Given the description of an element on the screen output the (x, y) to click on. 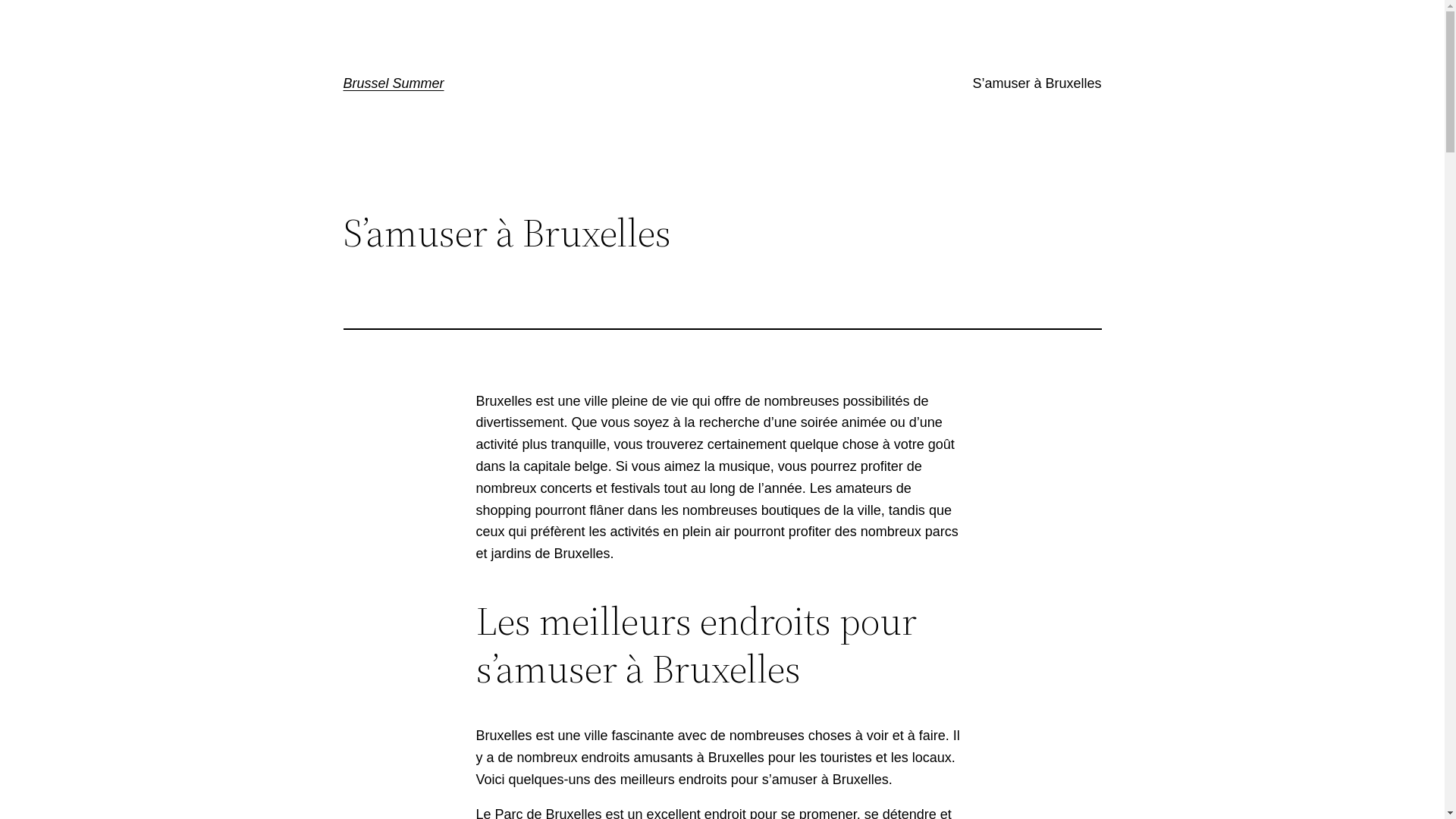
Brussel Summer Element type: text (392, 83)
